Given the description of an element on the screen output the (x, y) to click on. 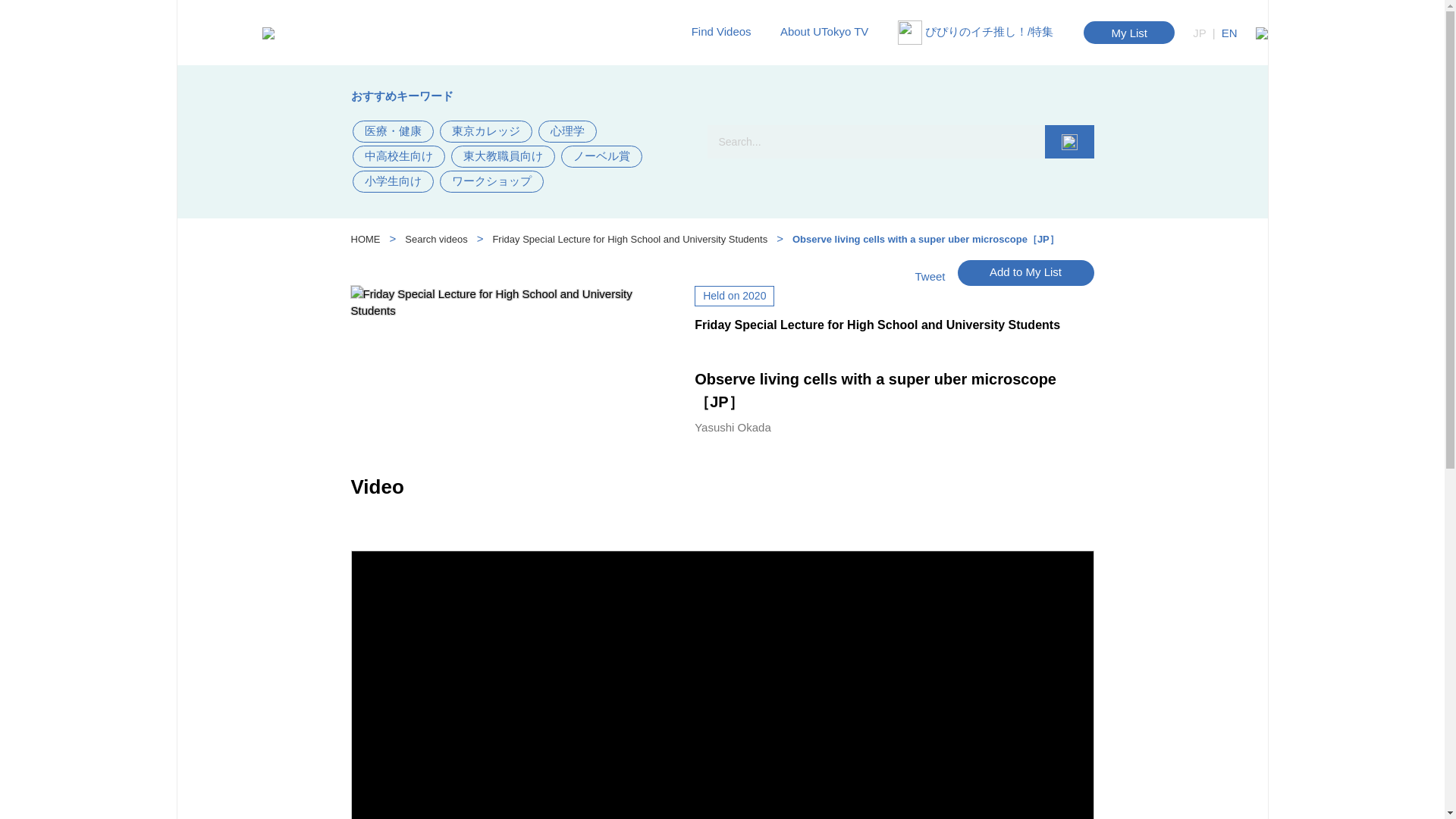
HOME (365, 239)
Add to My List (1024, 272)
About UTokyo TV (884, 65)
Find Videos (727, 31)
EN (1229, 31)
My List (1128, 32)
JP (1199, 31)
About UTokyo TV (829, 31)
Search videos (435, 239)
